Given the description of an element on the screen output the (x, y) to click on. 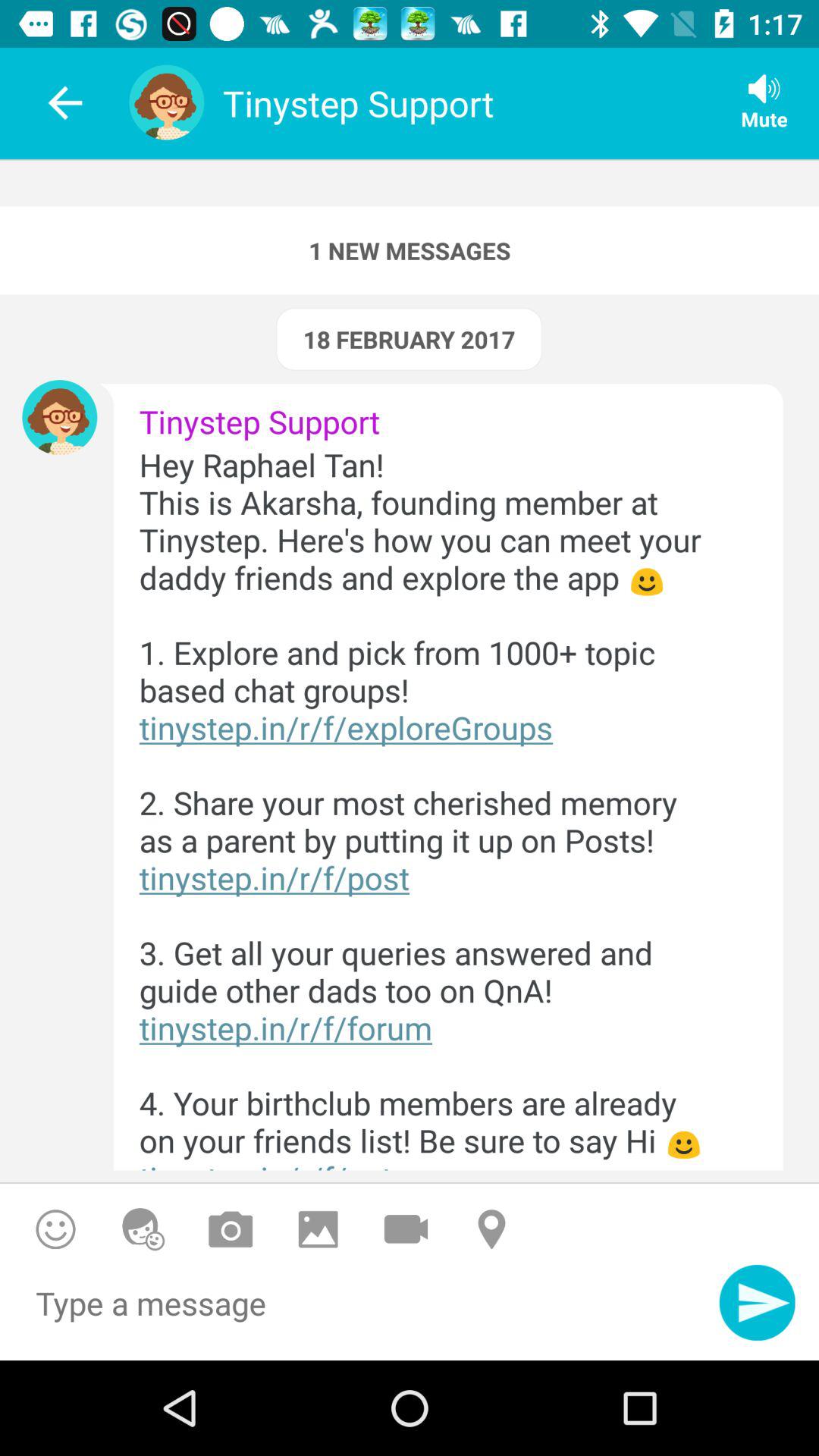
send image in message (318, 1229)
